Given the description of an element on the screen output the (x, y) to click on. 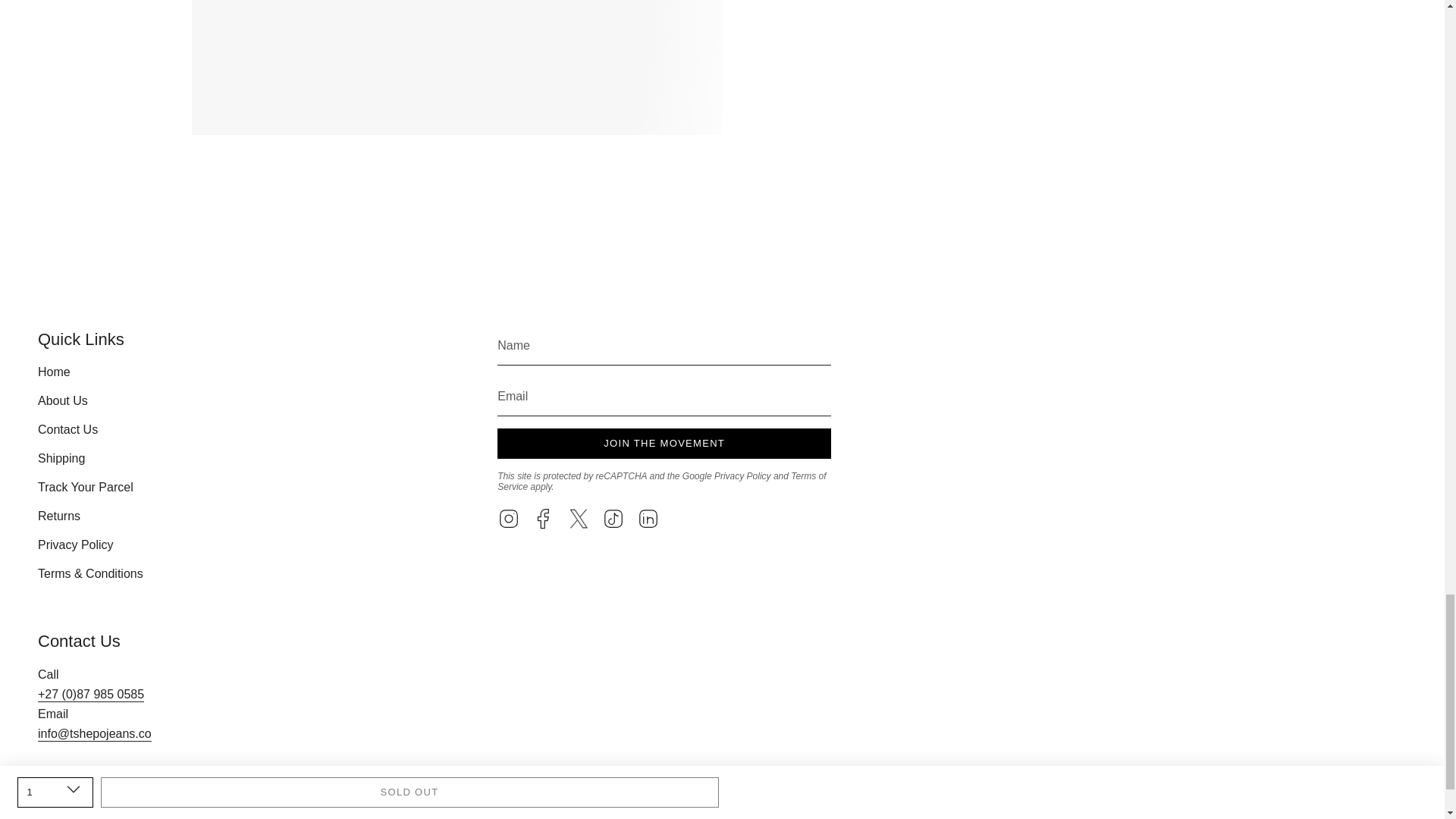
TSHEPO on Instagram (508, 517)
TSHEPO on Twitter (578, 517)
TSHEPO on TikTok (613, 517)
TSHEPO on Facebook (543, 517)
TSHEPO on Linkedin (648, 517)
